Given the description of an element on the screen output the (x, y) to click on. 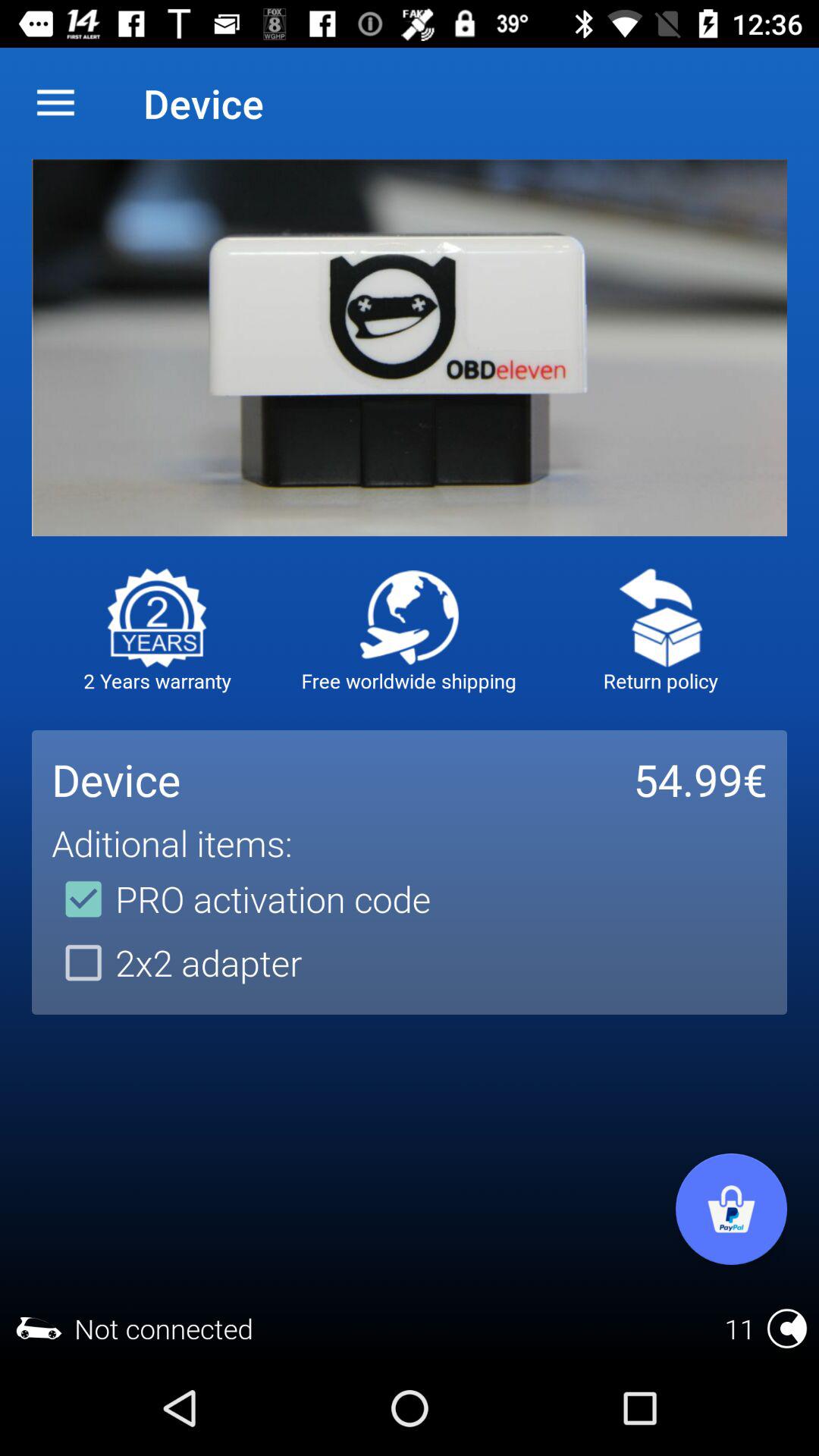
purchase button global shipping select ship method (408, 617)
